Given the description of an element on the screen output the (x, y) to click on. 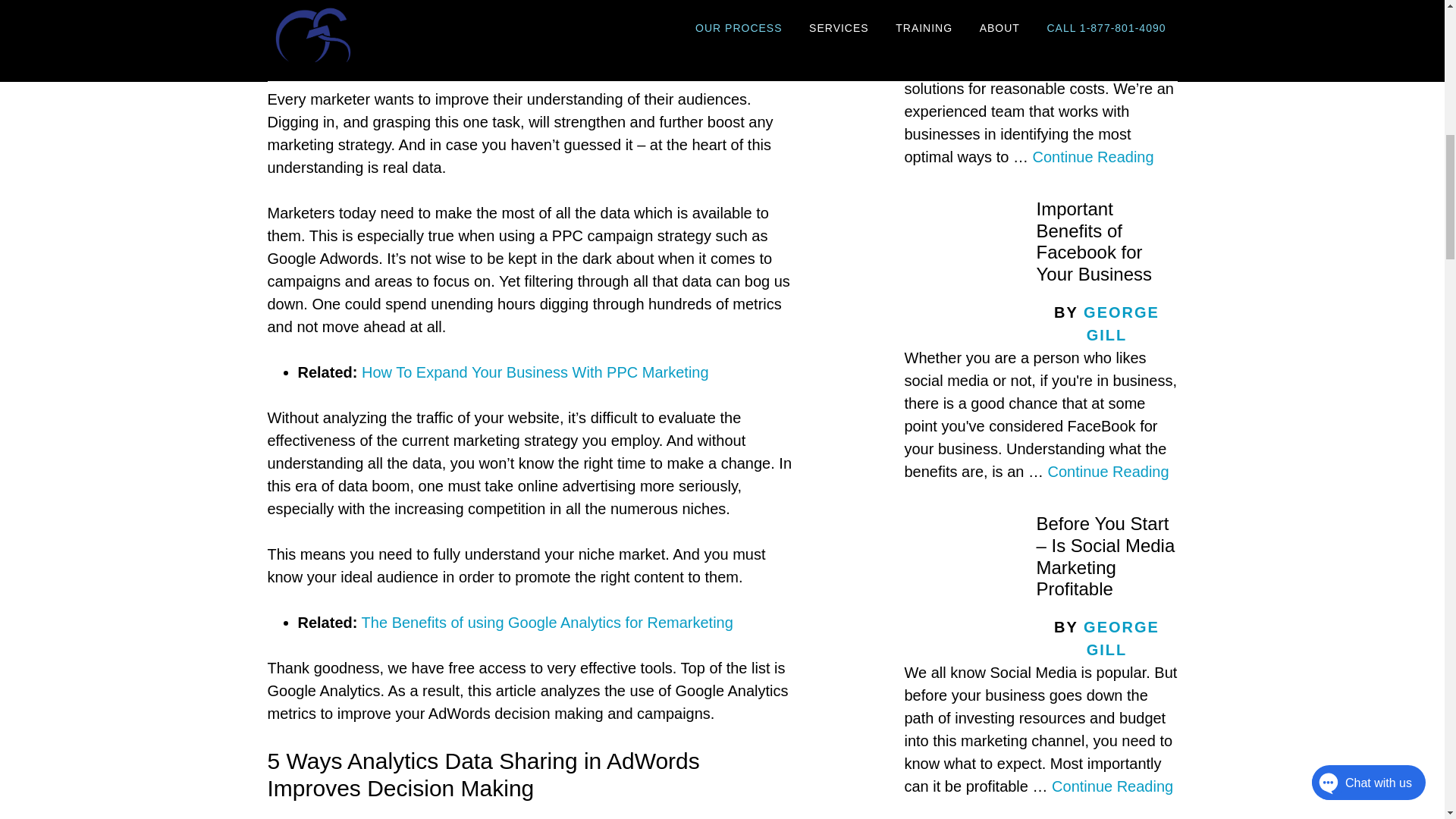
How To Expand Your Business With PPC Marketing (535, 371)
The Benefits of using Google Analytics for Remarketing (547, 622)
